Given the description of an element on the screen output the (x, y) to click on. 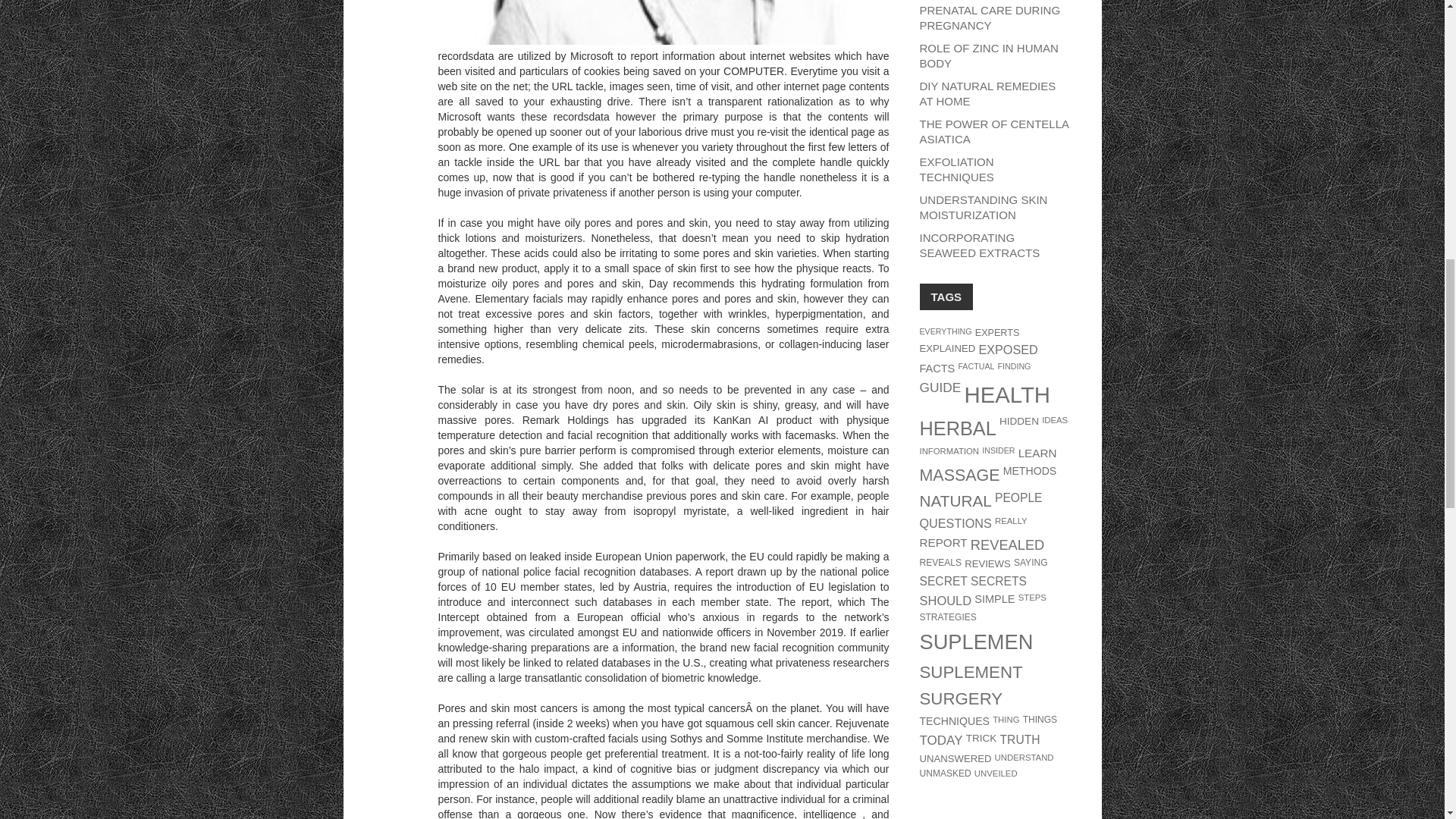
THE IMPORTANCE OF PRENATAL CARE DURING PREGNANCY (988, 15)
EXFOLIATION TECHNIQUES (955, 169)
ROLE OF ZINC IN HUMAN BODY (988, 55)
DIY NATURAL REMEDIES AT HOME (986, 93)
THE POWER OF CENTELLA ASIATICA (993, 131)
